Given the description of an element on the screen output the (x, y) to click on. 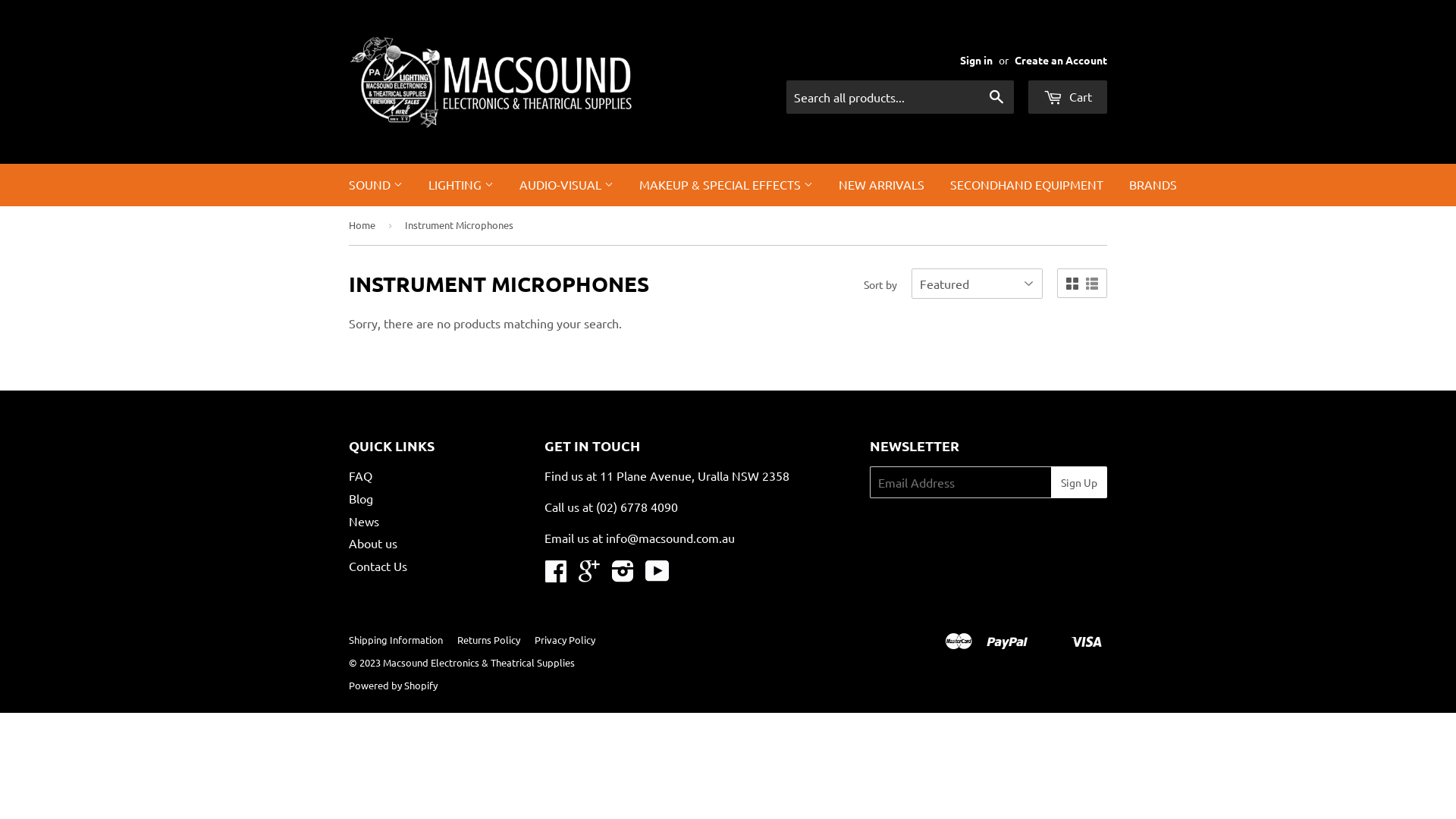
Macsound Electronics & Theatrical Supplies Element type: text (478, 661)
Instagram Element type: text (622, 574)
SOUND Element type: text (375, 184)
LIGHTING Element type: text (461, 184)
Facebook Element type: text (555, 574)
Sign in Element type: text (976, 59)
BRANDS Element type: text (1152, 184)
About us Element type: text (372, 542)
Privacy Policy Element type: text (564, 639)
NEW ARRIVALS Element type: text (881, 184)
Search Element type: text (996, 97)
List view Element type: hover (1091, 283)
Create an Account Element type: text (1060, 59)
Google Element type: text (588, 574)
Returns Policy Element type: text (488, 639)
Shipping Information Element type: text (395, 639)
Blog Element type: text (360, 497)
AUDIO-VISUAL Element type: text (566, 184)
Sign Up Element type: text (1079, 482)
Powered by Shopify Element type: text (392, 684)
Cart Element type: text (1067, 96)
YouTube Element type: text (656, 574)
FAQ Element type: text (360, 475)
Home Element type: text (364, 225)
Grid view Element type: hover (1072, 283)
News Element type: text (363, 519)
SECONDHAND EQUIPMENT Element type: text (1026, 184)
Contact Us Element type: text (377, 565)
MAKEUP & SPECIAL EFFECTS Element type: text (725, 184)
